Given the description of an element on the screen output the (x, y) to click on. 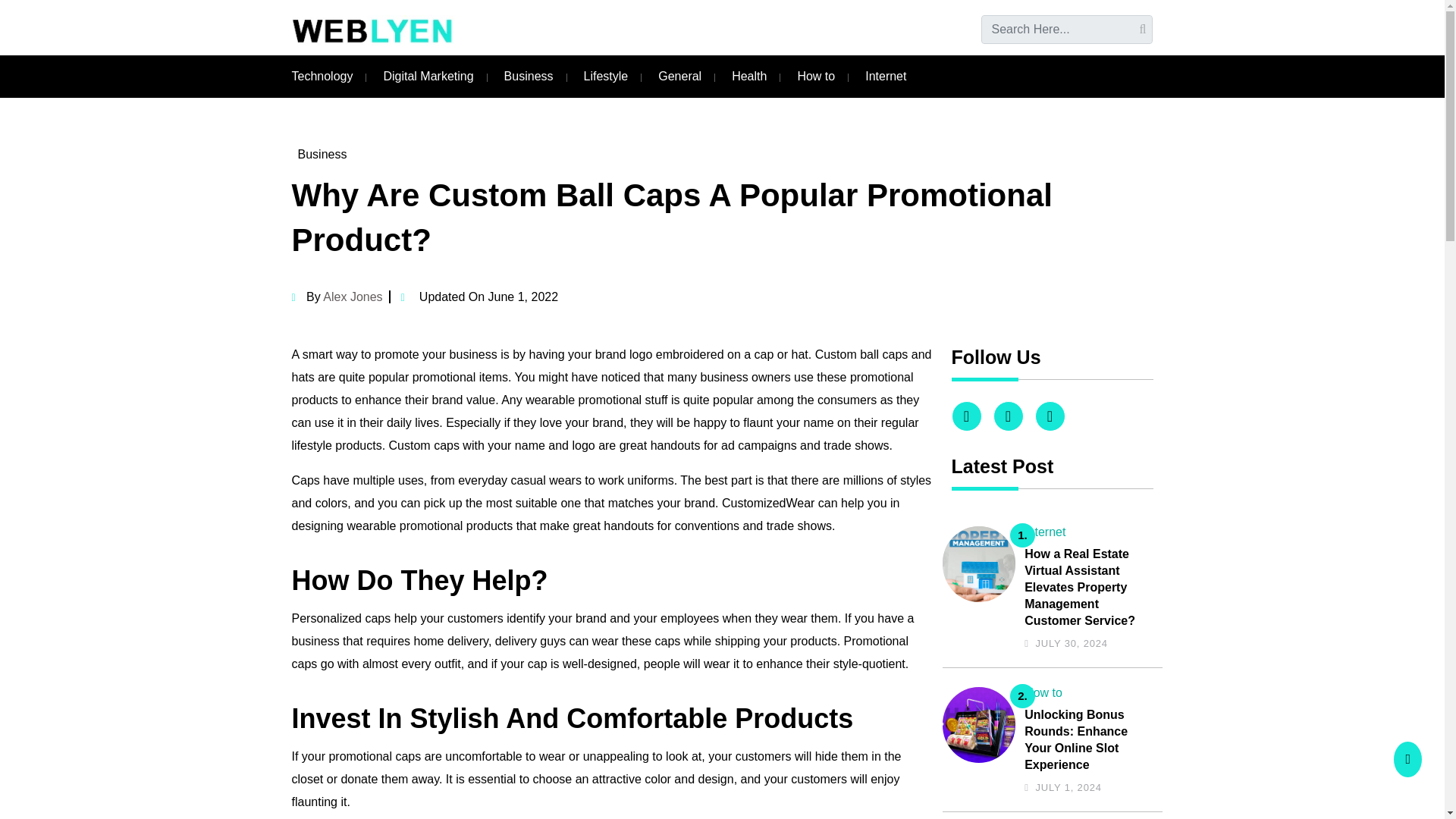
Search for: (1067, 29)
General (679, 75)
Technology (321, 75)
Alex Jones (352, 296)
Digital Marketing (427, 75)
Health (749, 75)
Business (528, 75)
Unlocking Bonus Rounds: Enhance Your Online Slot Experience (1089, 739)
Business (321, 154)
Internet (884, 75)
Lifestyle (605, 75)
Go to top (1407, 759)
How to (1043, 692)
How to (815, 75)
